Given the description of an element on the screen output the (x, y) to click on. 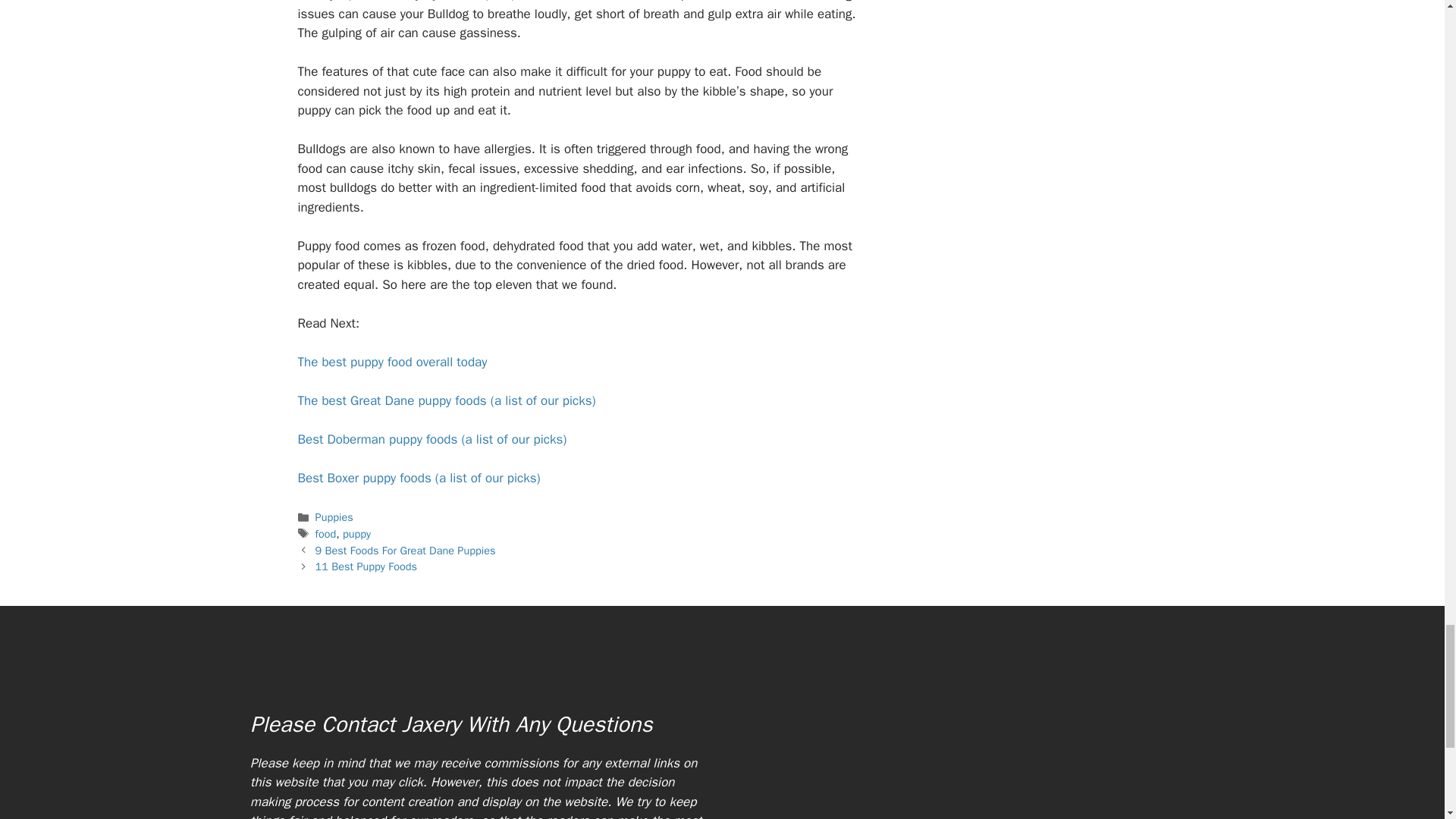
9 Best Foods For Great Dane Puppies (405, 550)
puppy (356, 533)
Puppies (334, 517)
The best puppy food overall today (391, 361)
11 Best Puppy Foods (365, 566)
food (325, 533)
